Given the description of an element on the screen output the (x, y) to click on. 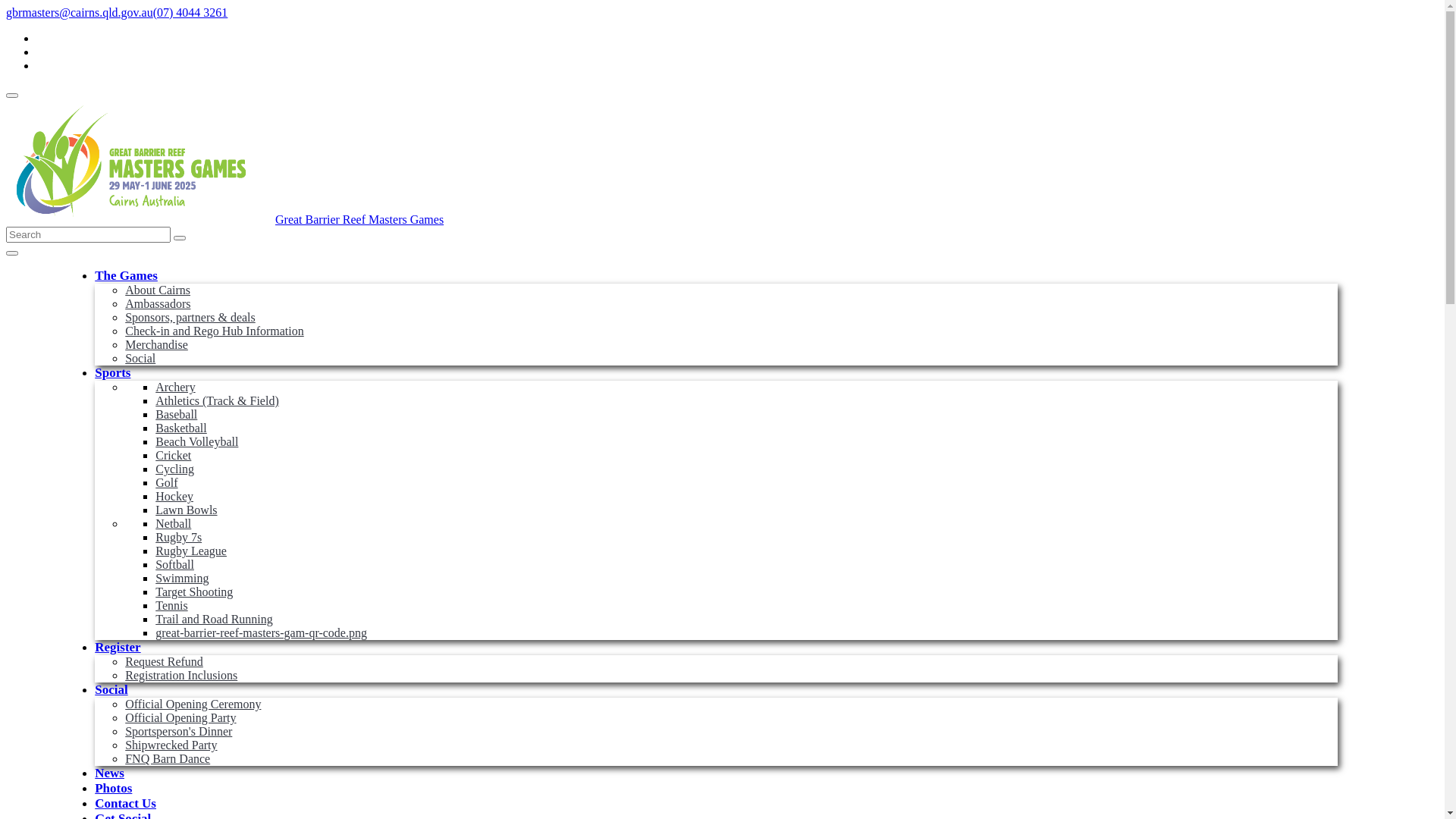
News Element type: text (109, 772)
(07) 4044 3261 Element type: text (190, 12)
Great Barrier Reef Masters Games Element type: text (224, 219)
Sponsors, partners & deals Element type: text (190, 316)
Softball Element type: text (174, 564)
Golf Element type: text (166, 482)
Rugby 7s Element type: text (178, 536)
Basketball Element type: text (181, 427)
Shipwrecked Party Element type: text (170, 744)
Registration Inclusions Element type: text (181, 674)
Tennis Element type: text (171, 605)
Netball Element type: text (173, 523)
Register Element type: text (117, 647)
Swimming Element type: text (181, 577)
Baseball Element type: text (176, 413)
Hockey Element type: text (174, 495)
Sportsperson's Dinner Element type: text (178, 730)
Request Refund Element type: text (164, 661)
About Cairns Element type: text (157, 289)
Target Shooting Element type: text (193, 591)
Lawn Bowls Element type: text (185, 509)
FNQ Barn Dance Element type: text (167, 758)
Social Element type: text (140, 357)
Archery Element type: text (174, 386)
Cricket Element type: text (173, 454)
Cycling Element type: text (174, 468)
Social Element type: text (110, 689)
Search Field Element type: hover (88, 234)
The Games Element type: text (125, 275)
Check-in and Rego Hub Information Element type: text (214, 330)
Photos Element type: text (112, 788)
great-barrier-reef-masters-gam-qr-code.png Element type: text (261, 632)
Ambassadors Element type: text (157, 303)
Athletics (Track & Field) Element type: text (217, 400)
gbrmasters@cairns.qld.gov.au Element type: text (79, 12)
Rugby League Element type: text (190, 550)
Sports Element type: text (112, 372)
Official Opening Party Element type: text (180, 717)
Trail and Road Running Element type: text (214, 618)
Contact Us Element type: text (125, 803)
Beach Volleyball Element type: text (196, 441)
Merchandise Element type: text (156, 344)
Official Opening Ceremony Element type: text (192, 703)
